Given the description of an element on the screen output the (x, y) to click on. 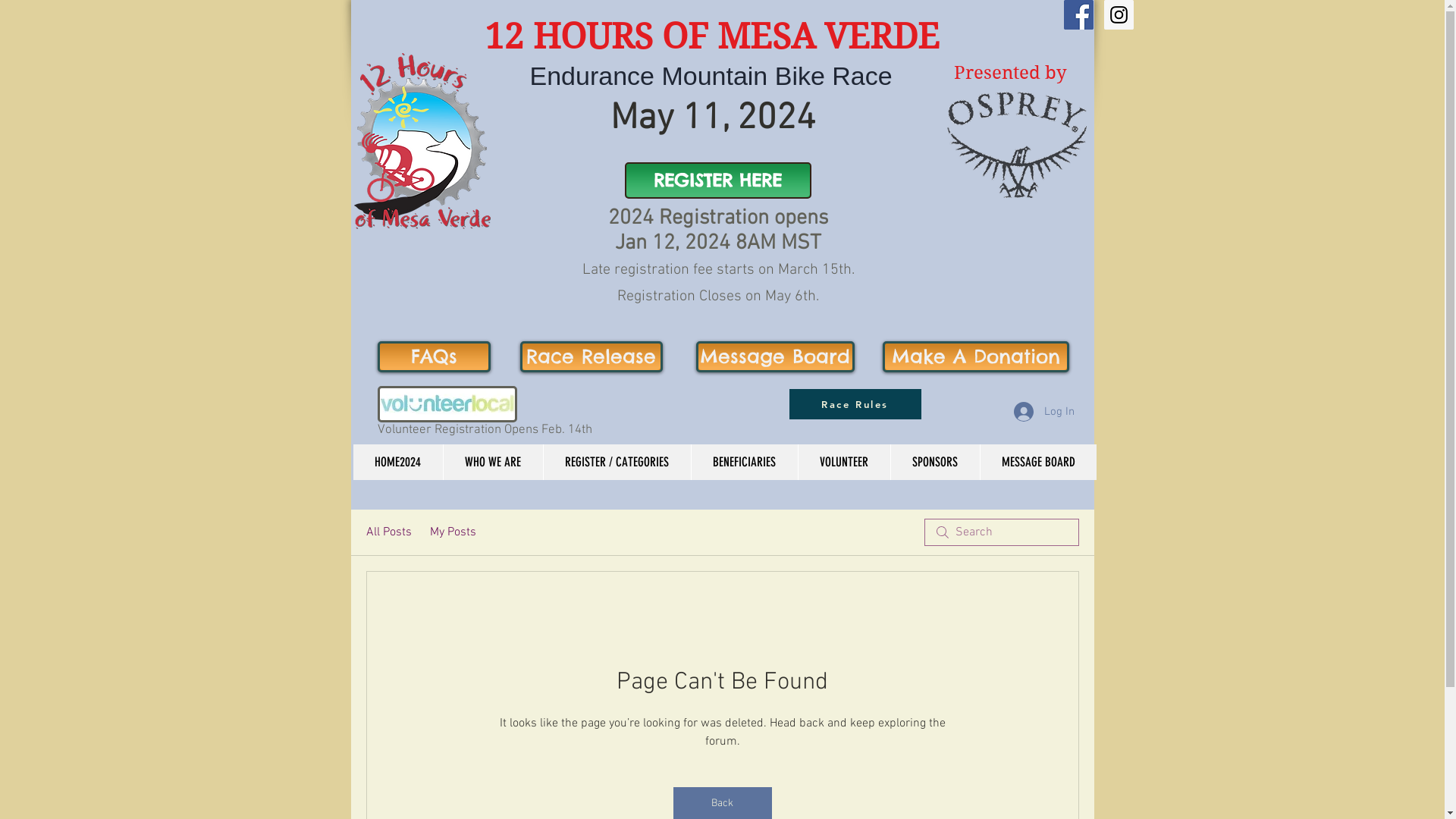
MESSAGE BOARD Element type: text (1037, 462)
Log In Element type: text (1043, 411)
Message Board Element type: text (775, 356)
HOME2024 Element type: text (397, 462)
VOLUNTEER Element type: text (843, 462)
WHO WE ARE Element type: text (492, 462)
Race Rules Element type: text (854, 404)
My Posts Element type: text (452, 532)
SPONSORS Element type: text (934, 462)
FAQs Element type: text (433, 356)
Race Release Element type: text (591, 356)
BENEFICIARIES Element type: text (743, 462)
12 HOURS OF MESA VERDE Element type: text (710, 35)
Click Here to Volunteer! Element type: hover (447, 403)
REGISTER / CATEGORIES Element type: text (616, 462)
All Posts Element type: text (388, 532)
Make A Donation Element type: text (975, 356)
